Given the description of an element on the screen output the (x, y) to click on. 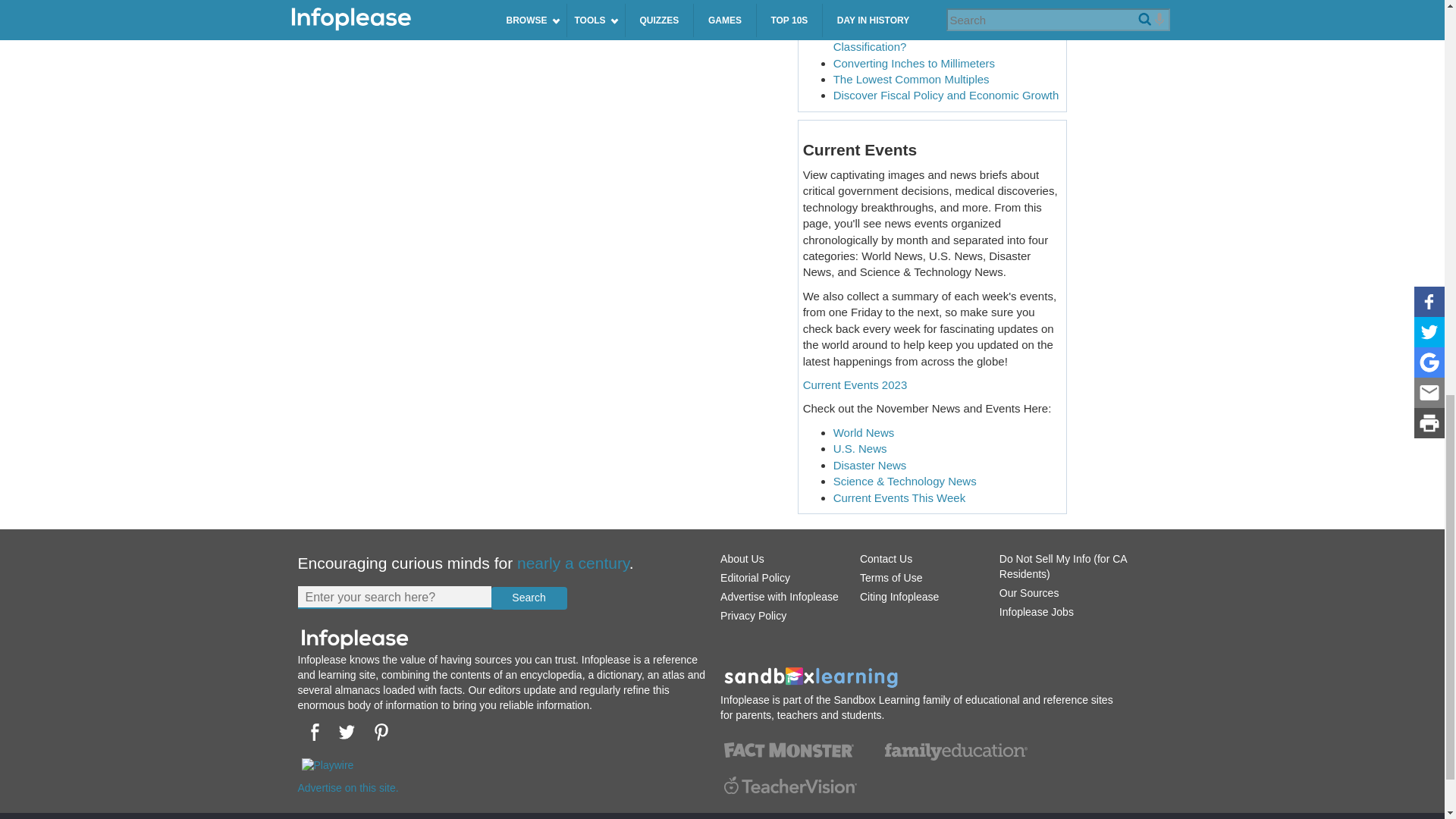
Search (529, 598)
